Given the description of an element on the screen output the (x, y) to click on. 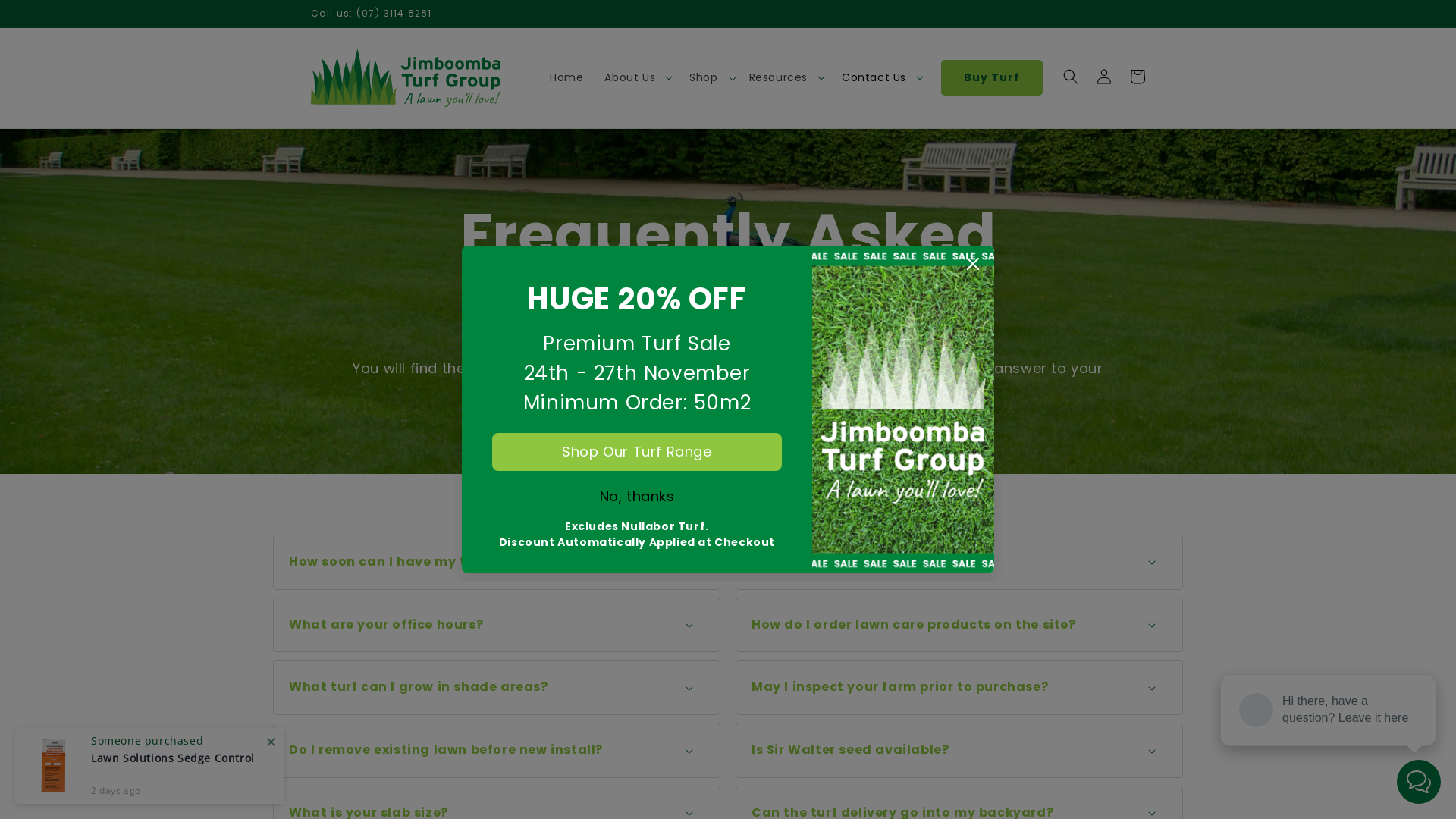
Home Element type: text (566, 76)
Buy Turf Element type: text (991, 77)
Cart Element type: text (1137, 76)
Shop Element type: text (707, 76)
Log in Element type: text (1103, 76)
